Given the description of an element on the screen output the (x, y) to click on. 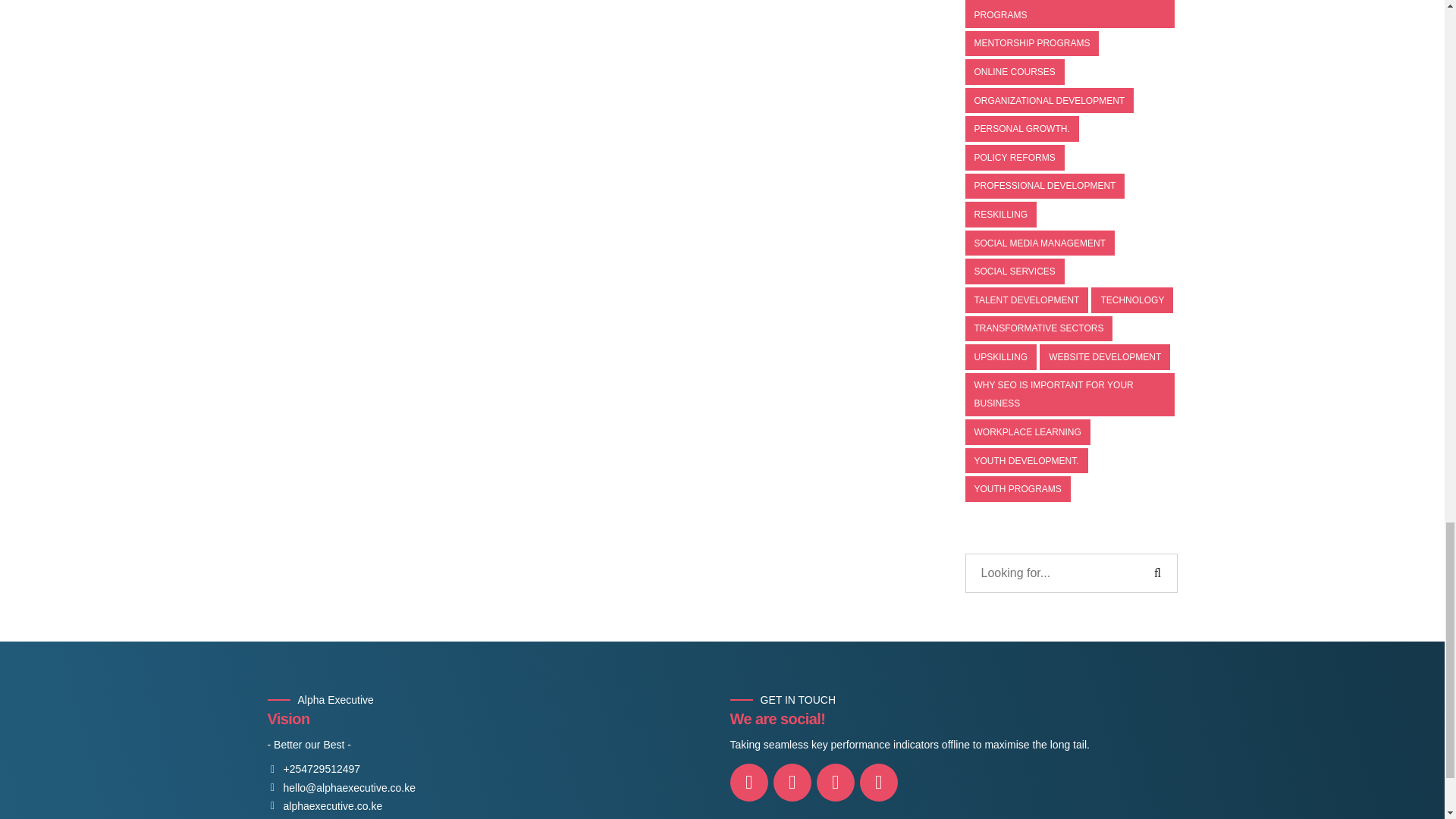
alphaexecutive.co.ke (323, 806)
